Given the description of an element on the screen output the (x, y) to click on. 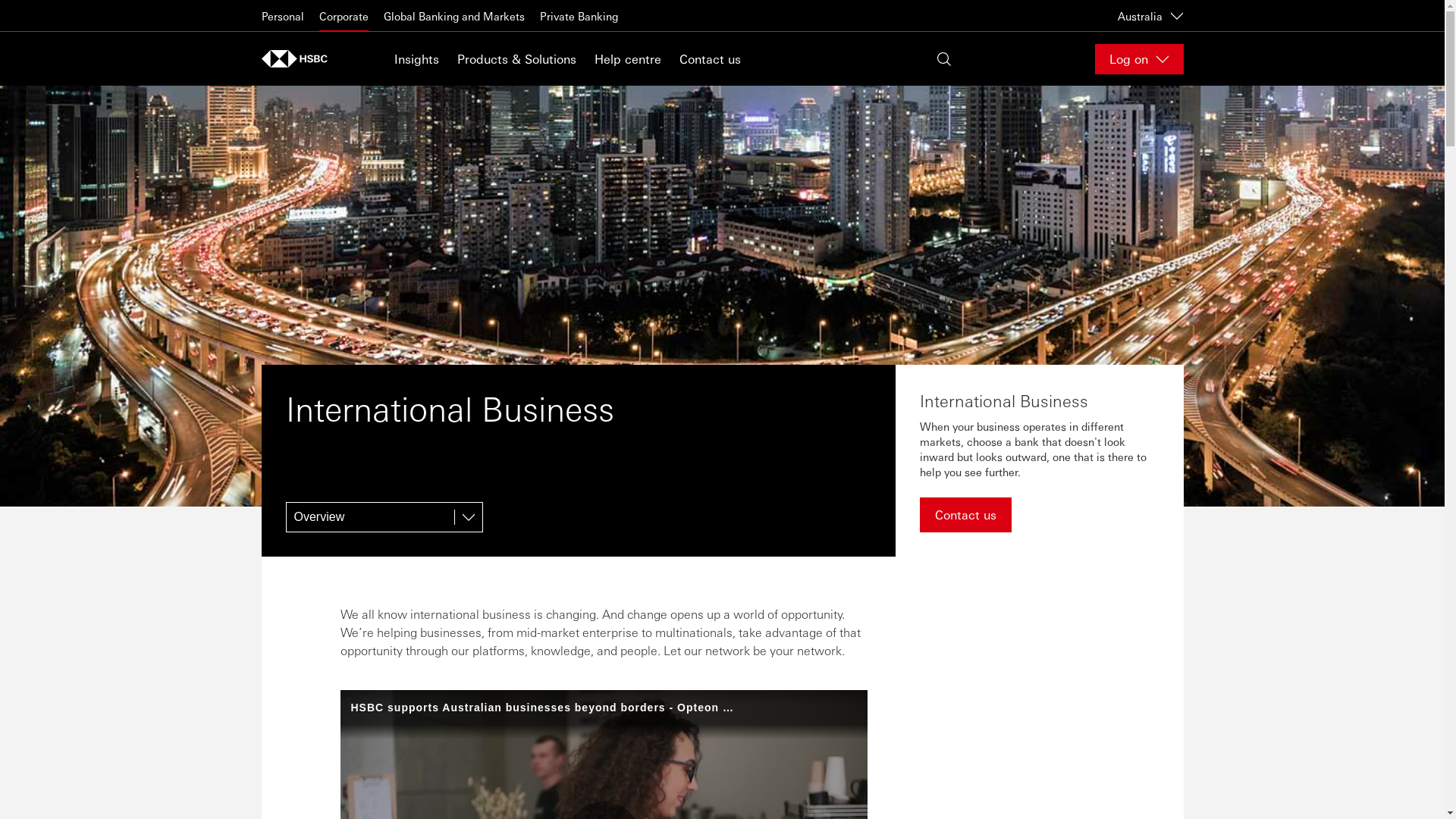
Personal Element type: text (281, 15)
Australia Element type: text (1150, 14)
          Element type: hover (722, 295)
Help centre Element type: text (627, 59)
HSBC logo Element type: hover (293, 58)
Log on Element type: text (1139, 58)
Skip to content Element type: text (0, 0)
Insights Element type: text (416, 59)
Global Banking and Markets Element type: text (453, 15)
Contact us Element type: text (709, 59)
Private Banking Element type: text (578, 15)
Corporate Element type: text (342, 15)
Contact us Element type: text (964, 514)
Home Element type: hover (298, 58)
Products & Solutions Element type: text (515, 59)
